Given the description of an element on the screen output the (x, y) to click on. 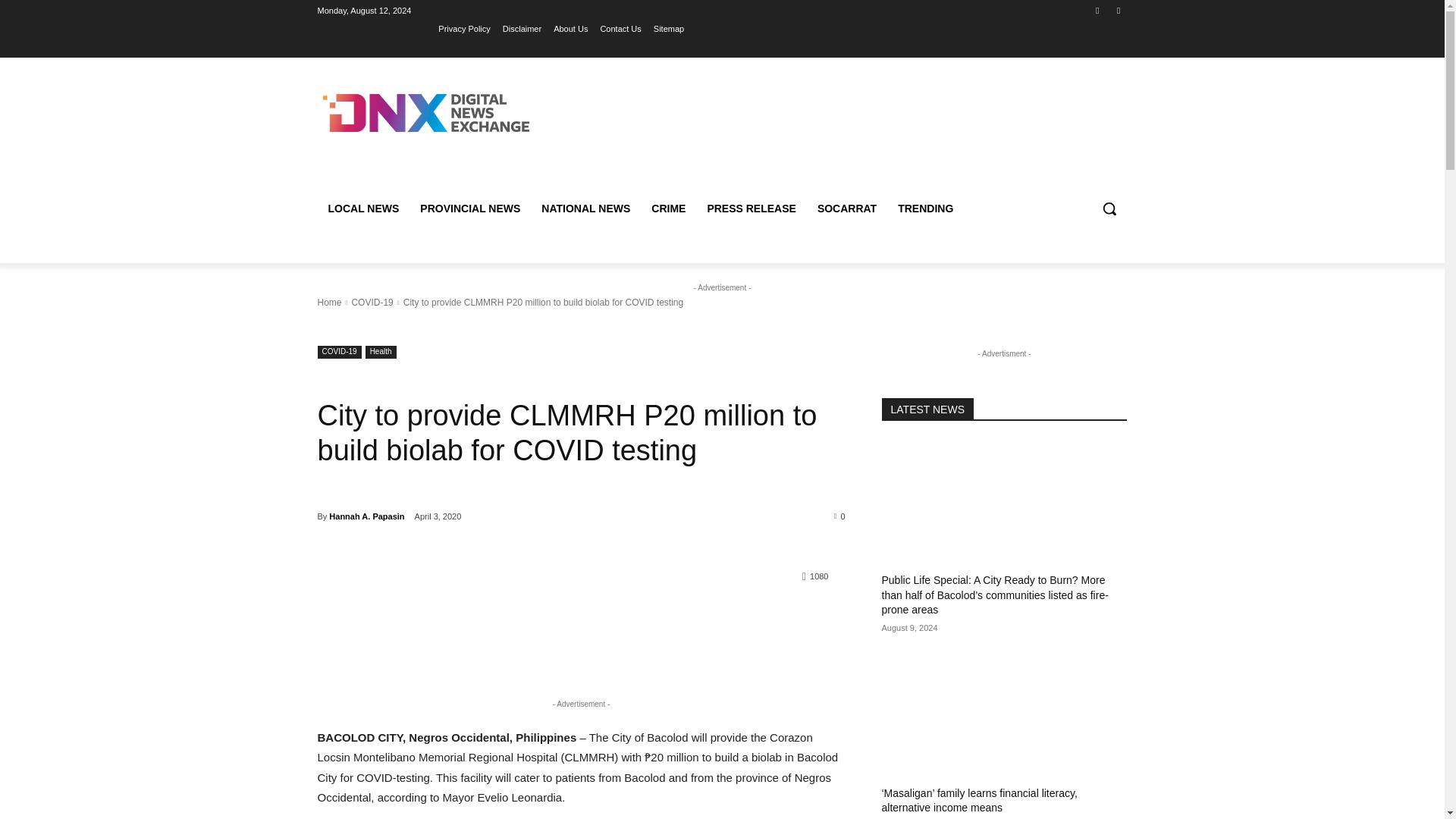
About Us (570, 28)
Privacy Policy (463, 28)
Facebook (1097, 9)
Hannah A. Papasin (366, 516)
PRESS RELEASE (750, 208)
NATIONAL NEWS (585, 208)
Contact Us (619, 28)
Home (328, 302)
Sitemap (668, 28)
CRIME (667, 208)
